Given the description of an element on the screen output the (x, y) to click on. 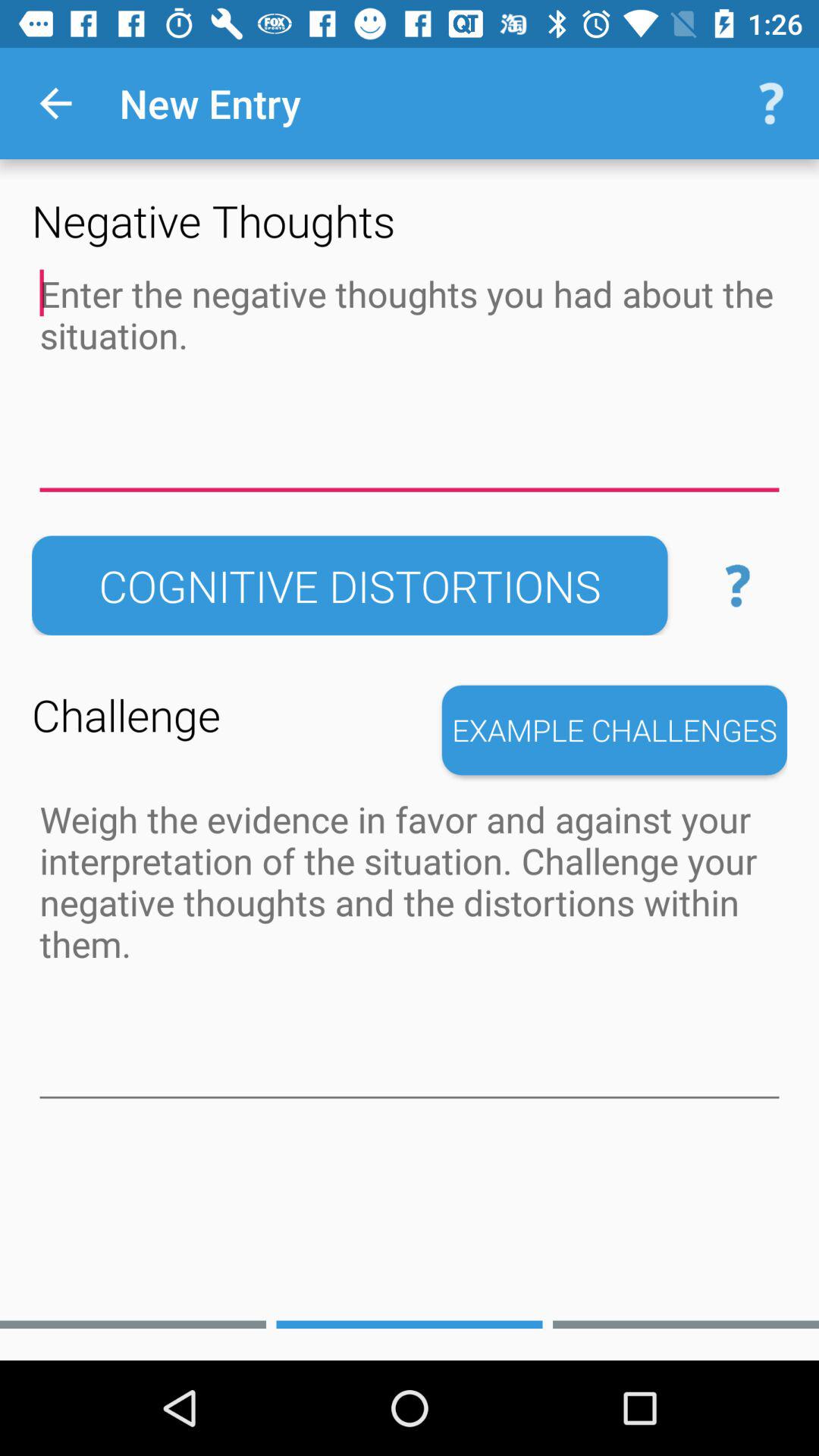
press the item above the negative thoughts (55, 103)
